Given the description of an element on the screen output the (x, y) to click on. 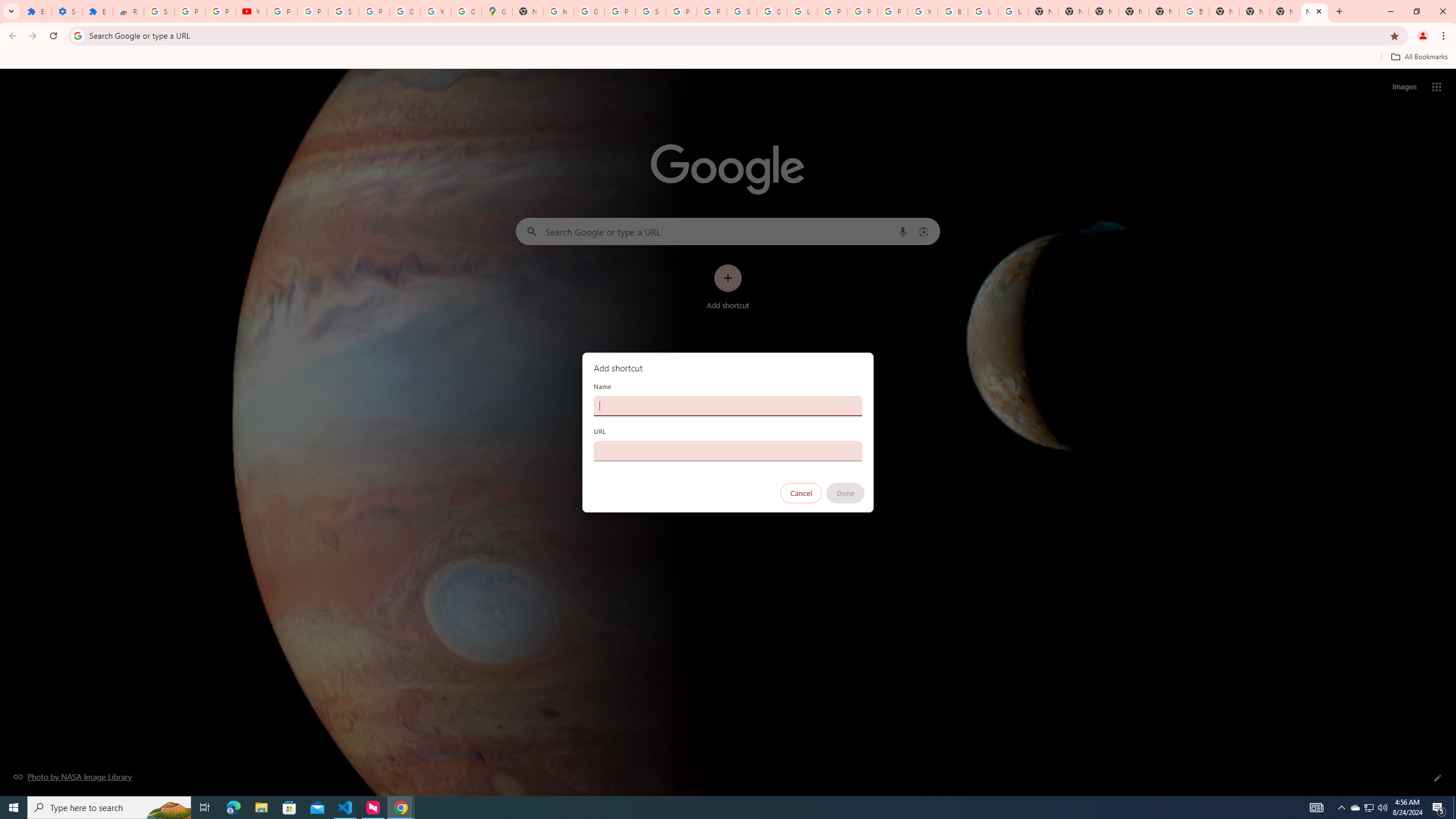
New Tab (1103, 11)
Sign in - Google Accounts (650, 11)
Sign in - Google Accounts (741, 11)
Sign in - Google Accounts (158, 11)
Cancel (801, 493)
